Given the description of an element on the screen output the (x, y) to click on. 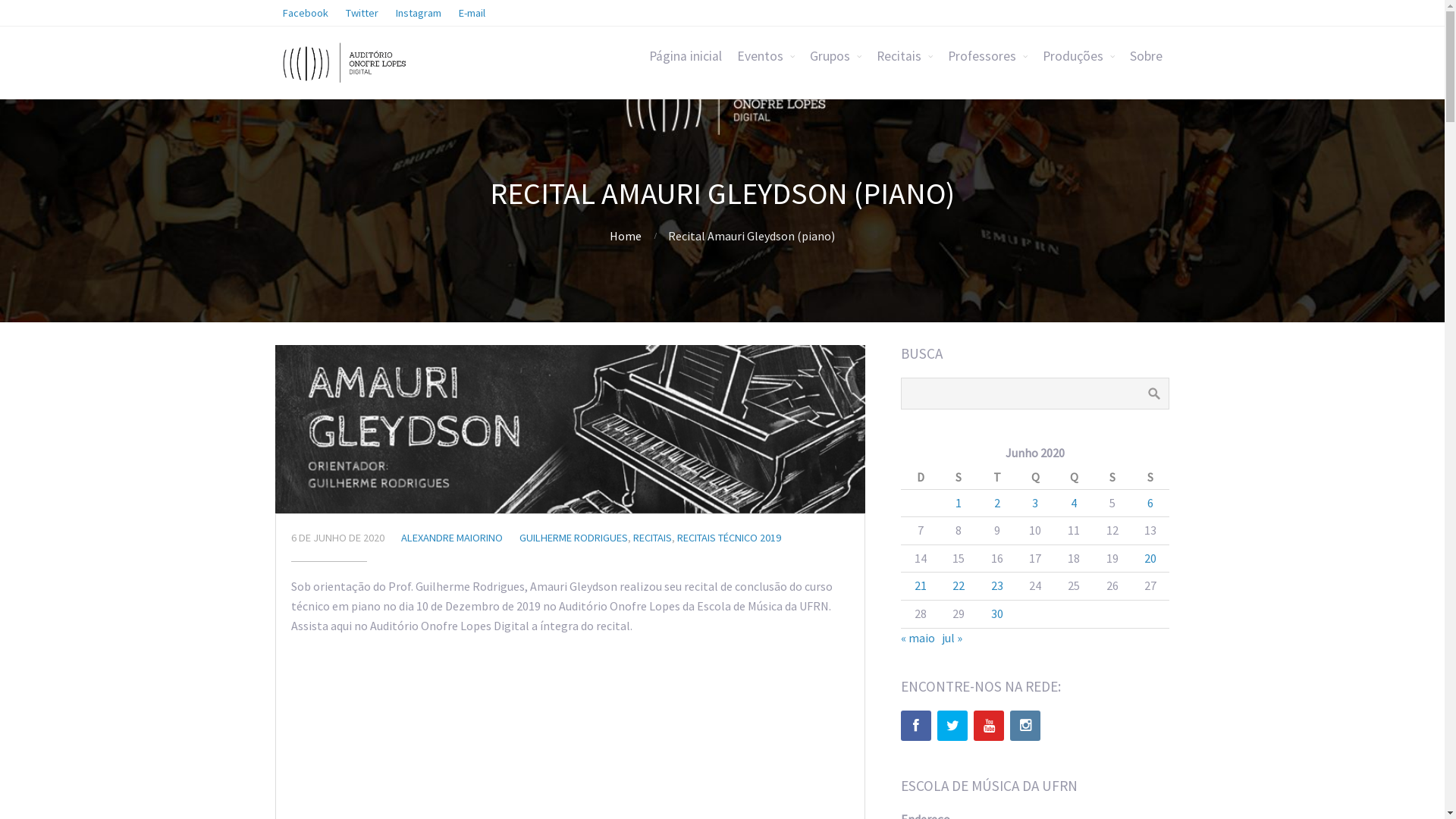
E-mail Element type: text (471, 12)
Facebook Element type: hover (915, 725)
Eventos Element type: text (765, 55)
Instagram Element type: hover (1025, 725)
YouTube Element type: hover (988, 725)
RECITAIS Element type: text (651, 537)
Home Element type: text (625, 235)
Professores Element type: text (987, 55)
Recitais Element type: text (904, 55)
Pesquisar Element type: text (1154, 393)
1 Element type: text (958, 502)
21 Element type: text (920, 585)
Sobre Element type: text (1146, 55)
Twitter Element type: hover (952, 725)
22 Element type: text (958, 585)
4 Element type: text (1073, 502)
Twitter Element type: text (361, 12)
Grupos Element type: text (835, 55)
Instagram Element type: text (418, 12)
6 Element type: text (1150, 502)
Facebook Element type: text (304, 12)
30 Element type: text (997, 613)
20 Element type: text (1150, 557)
2 Element type: text (997, 502)
3 Element type: text (1035, 502)
GUILHERME RODRIGUES Element type: text (572, 537)
23 Element type: text (997, 585)
ALEXANDRE MAIORINO Element type: text (451, 537)
